Given the description of an element on the screen output the (x, y) to click on. 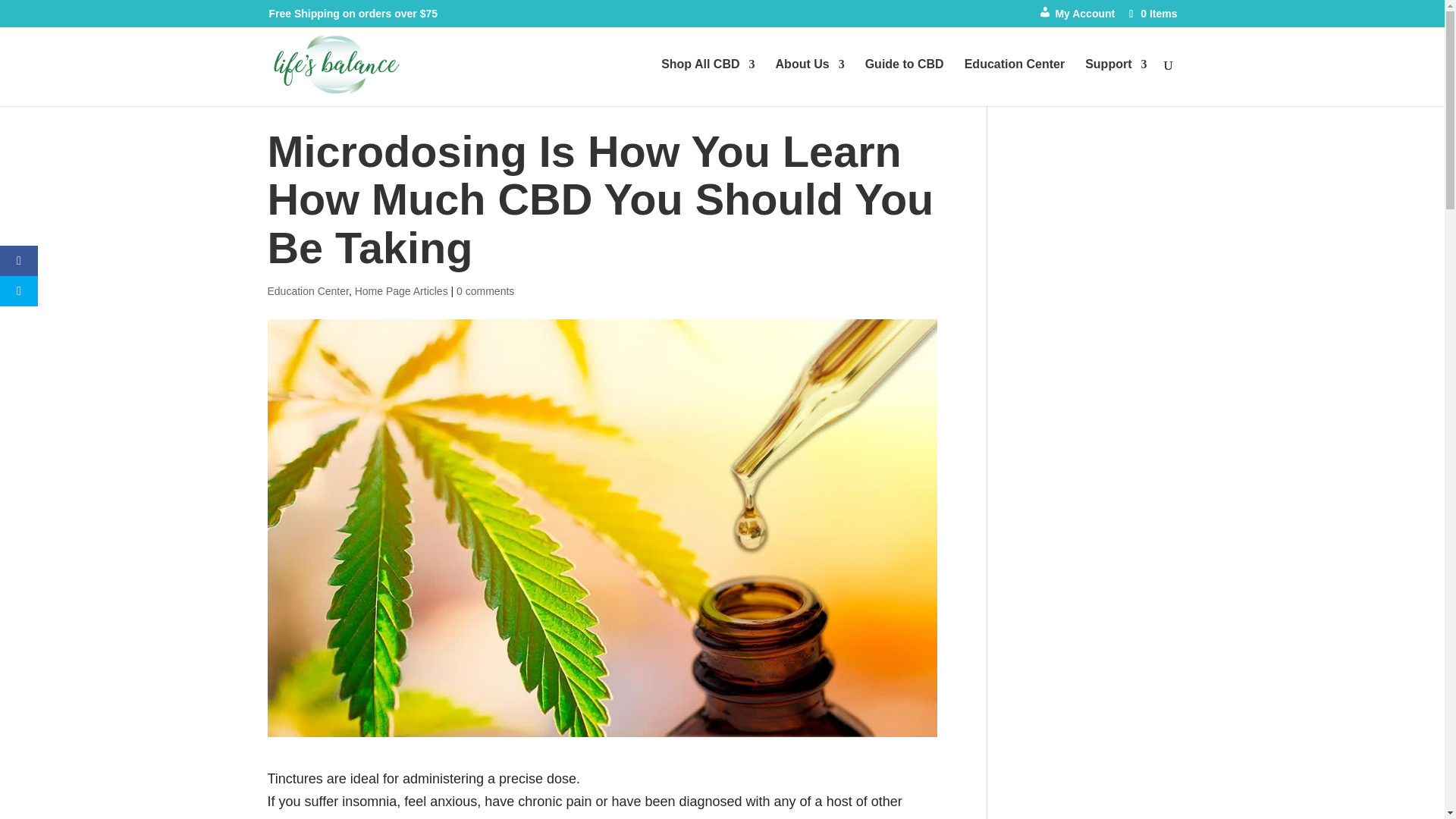
Education Center (306, 291)
0 comments (485, 291)
My Account (1077, 16)
Guide to CBD (903, 82)
0 Items (1150, 13)
About Us (810, 82)
Support (1115, 82)
Home Page Articles (401, 291)
Education Center (1013, 82)
Shop All CBD (707, 82)
